Given the description of an element on the screen output the (x, y) to click on. 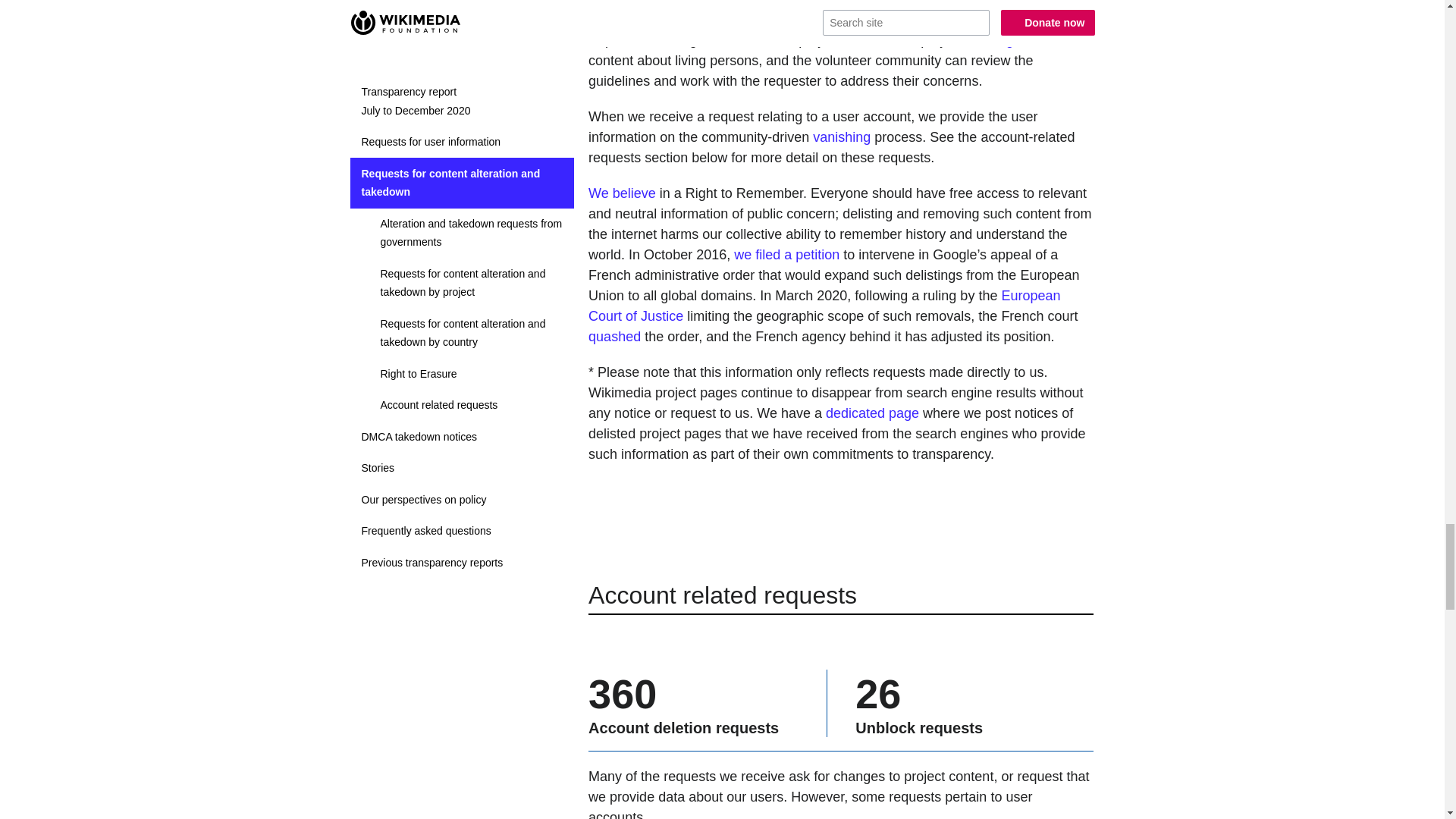
We believe (622, 193)
quashed (615, 336)
we filed a petition (786, 254)
guidelines (1035, 39)
dedicated page (872, 412)
vanishing (841, 136)
European Court of Justice (823, 305)
